Given the description of an element on the screen output the (x, y) to click on. 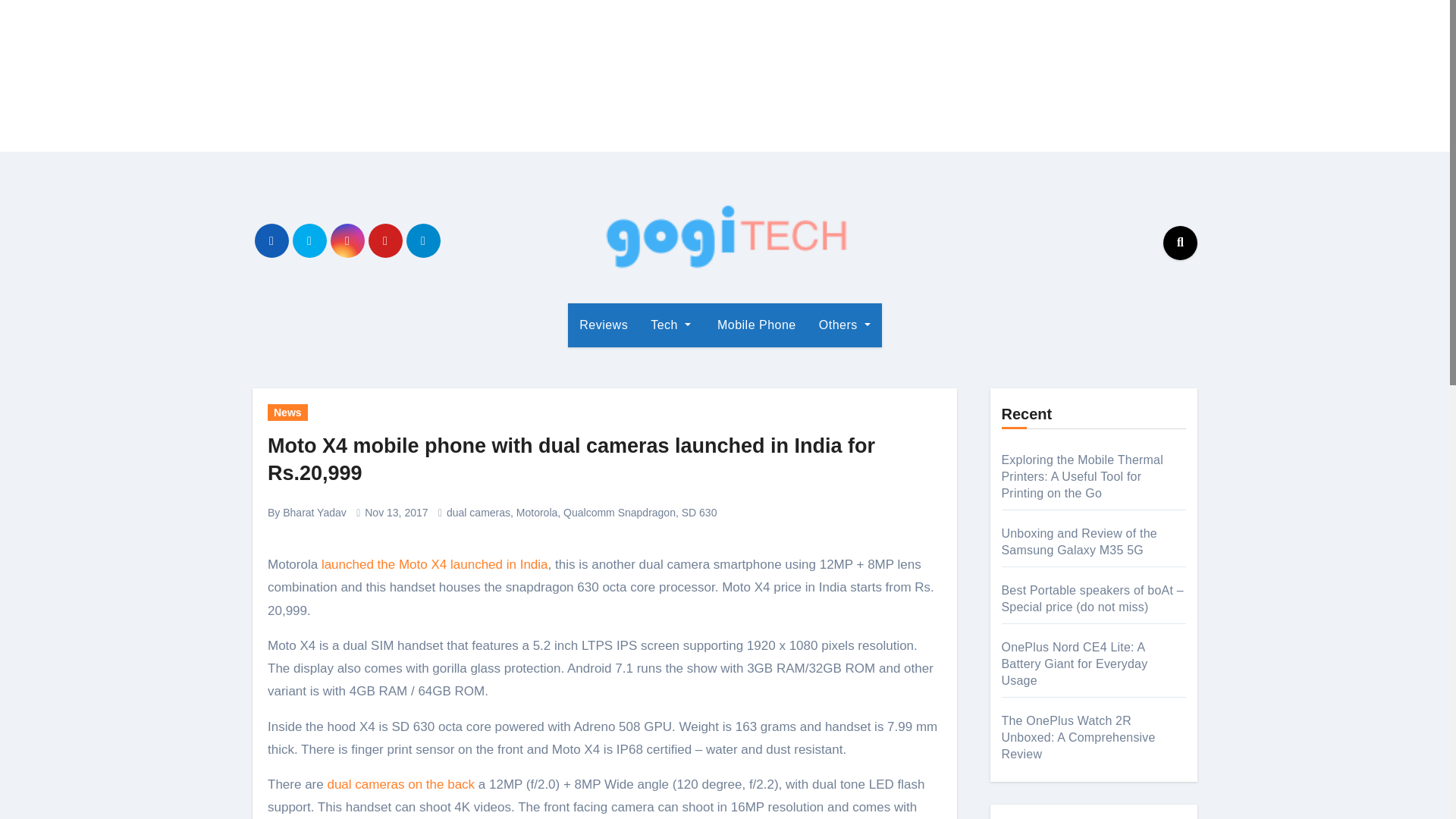
Tech (670, 325)
By Bharat Yadav (306, 512)
Reviews (603, 325)
Mobile Phone Section (754, 325)
News (287, 412)
Reviews (603, 325)
Others (845, 325)
 Mobile Phone (754, 325)
Tech (670, 325)
Others (845, 325)
